Given the description of an element on the screen output the (x, y) to click on. 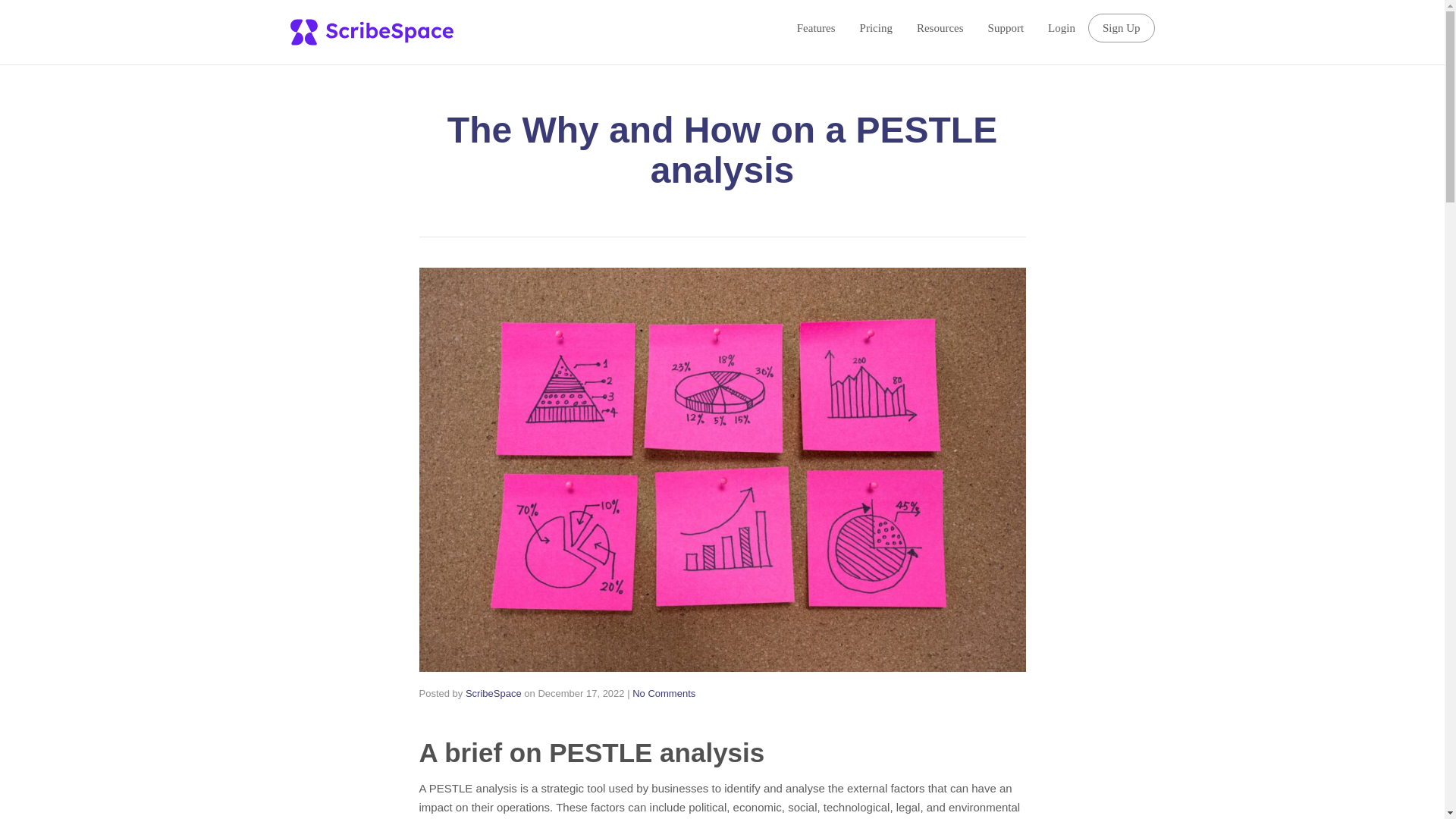
Support (1006, 27)
Sign Up (1121, 28)
Posts by ScribeSpace (493, 693)
ScribeSpace (493, 693)
No Comments (663, 693)
Features (815, 27)
Resources (940, 27)
